Given the description of an element on the screen output the (x, y) to click on. 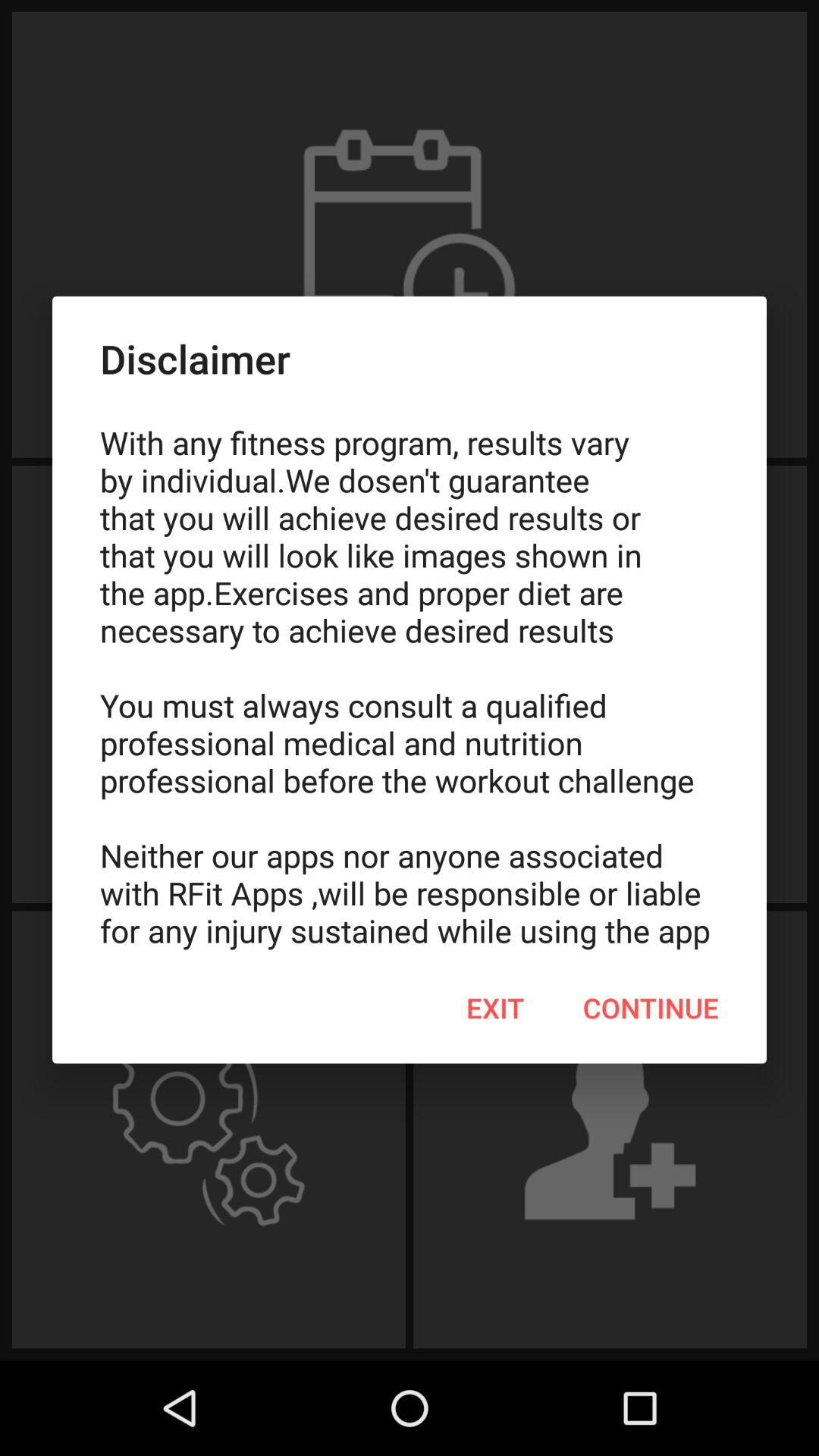
click the exit at the bottom (495, 1007)
